Given the description of an element on the screen output the (x, y) to click on. 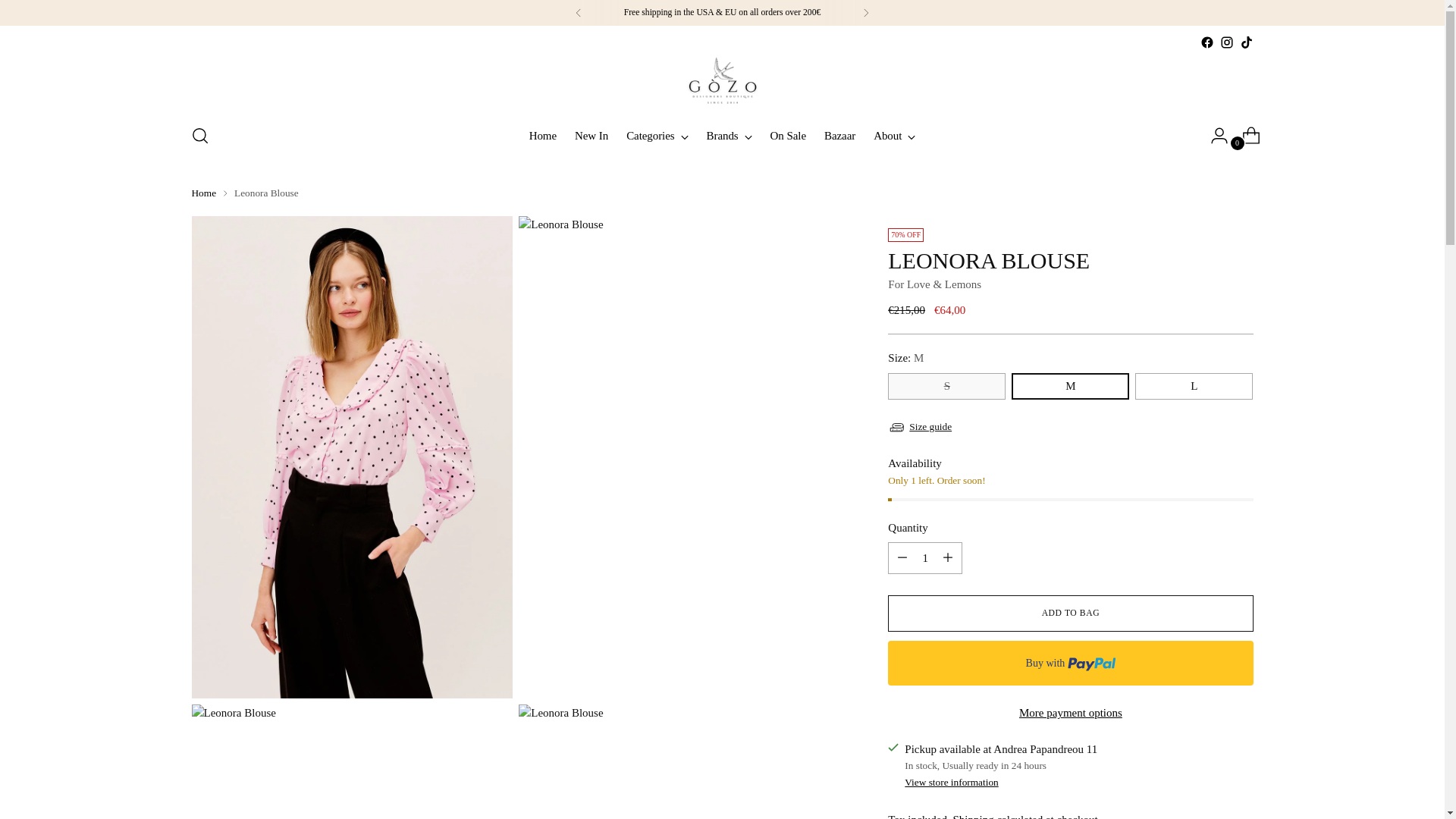
1 (925, 557)
Brands (729, 135)
Categories (656, 135)
Next (722, 135)
New In (865, 12)
Previous (591, 135)
